Given the description of an element on the screen output the (x, y) to click on. 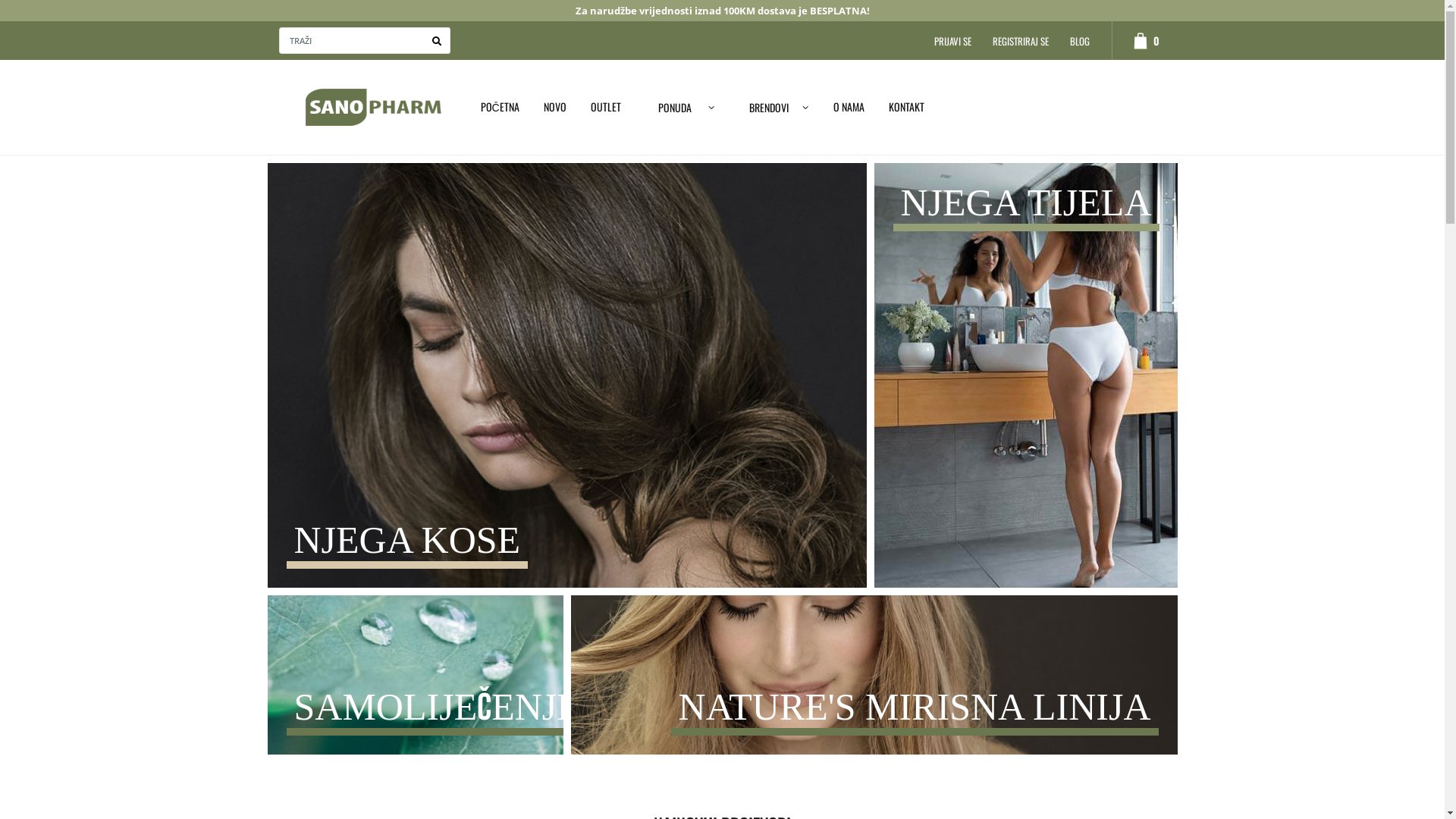
BLOG Element type: text (1079, 40)
PRIJAVI SE Element type: text (952, 40)
NJEGA KOSE Element type: text (566, 380)
PONUDA Element type: text (680, 107)
NOVO Element type: text (554, 106)
OUTLET Element type: text (605, 106)
REGISTRIRAJ SE Element type: text (1020, 40)
O NAMA Element type: text (848, 106)
KONTAKT Element type: text (906, 106)
BRENDOVI Element type: text (774, 107)
NATURE'S MIRISNA LINIJA Element type: text (873, 686)
NJEGA TIJELA Element type: text (1024, 379)
0 Element type: text (1138, 40)
